Given the description of an element on the screen output the (x, y) to click on. 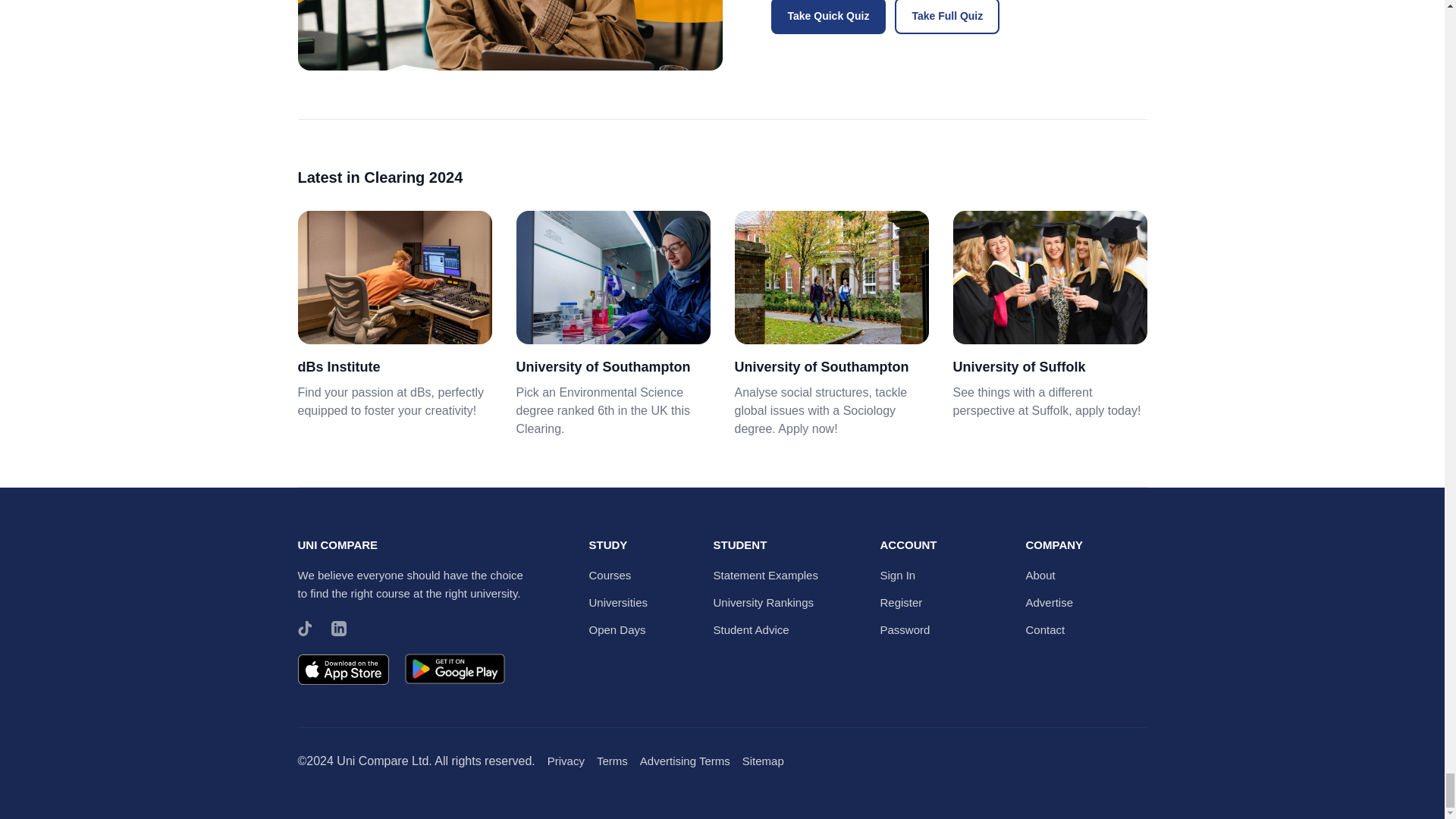
Download our iOS app (342, 672)
Download our Android app (454, 672)
